Given the description of an element on the screen output the (x, y) to click on. 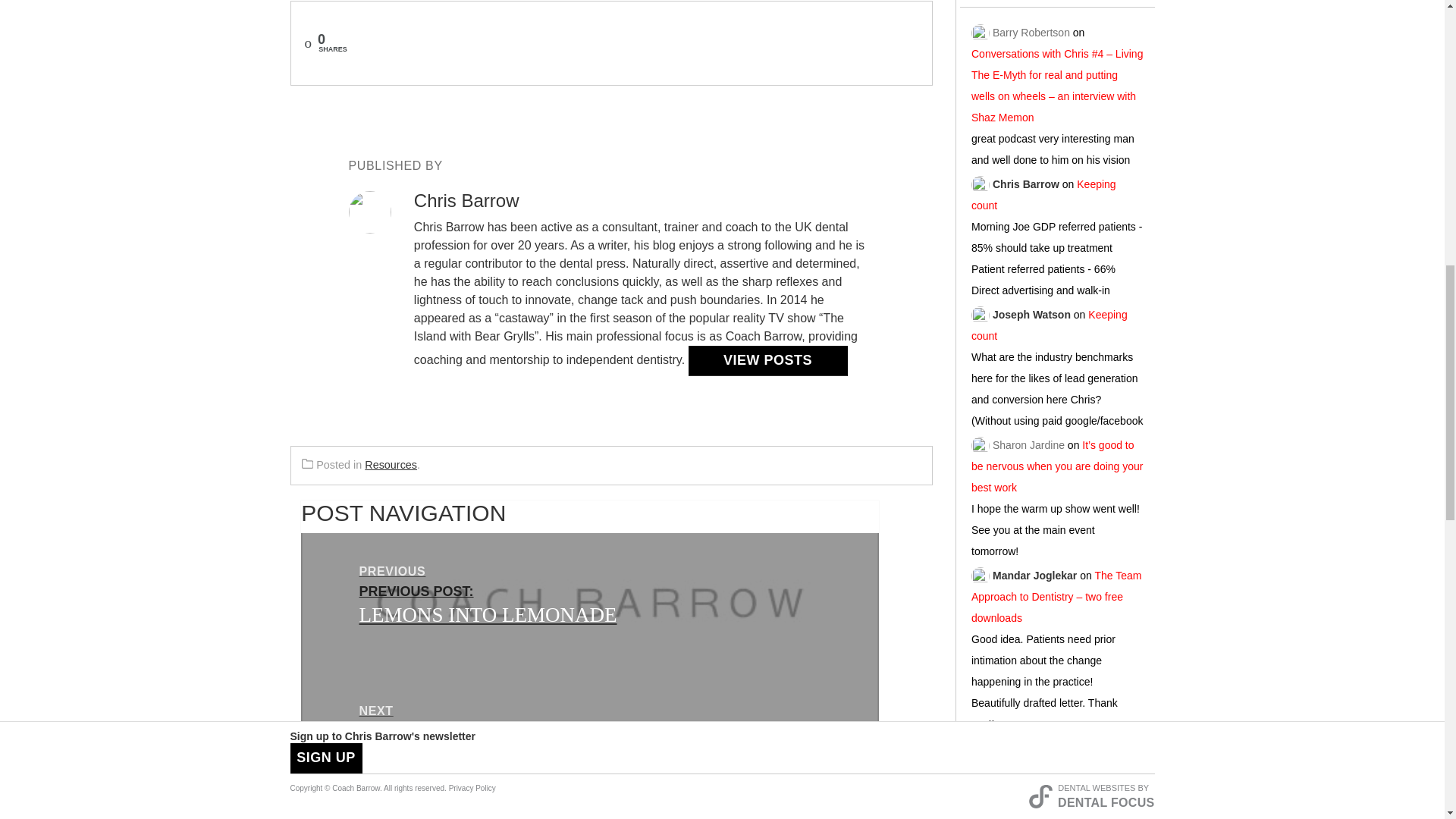
Joseph Watson (1031, 311)
Keeping count (1048, 321)
Keeping count (1043, 190)
Advertising (1056, 808)
Chris Barrow (590, 602)
Resources (1025, 180)
Mandar Joglekar (390, 464)
VIEW POSTS (1034, 571)
